Given the description of an element on the screen output the (x, y) to click on. 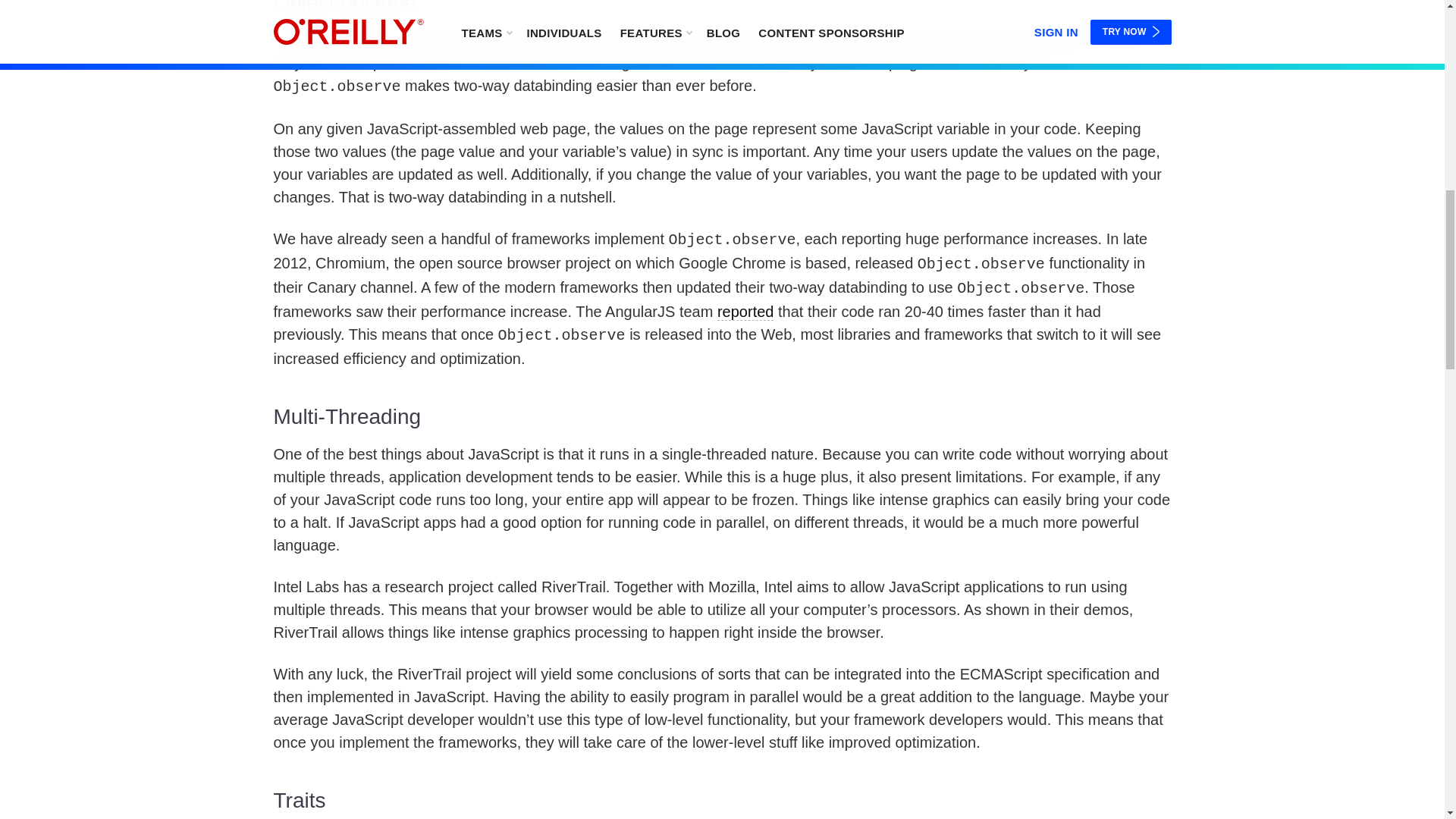
Traits (721, 802)
reported (745, 312)
